Given the description of an element on the screen output the (x, y) to click on. 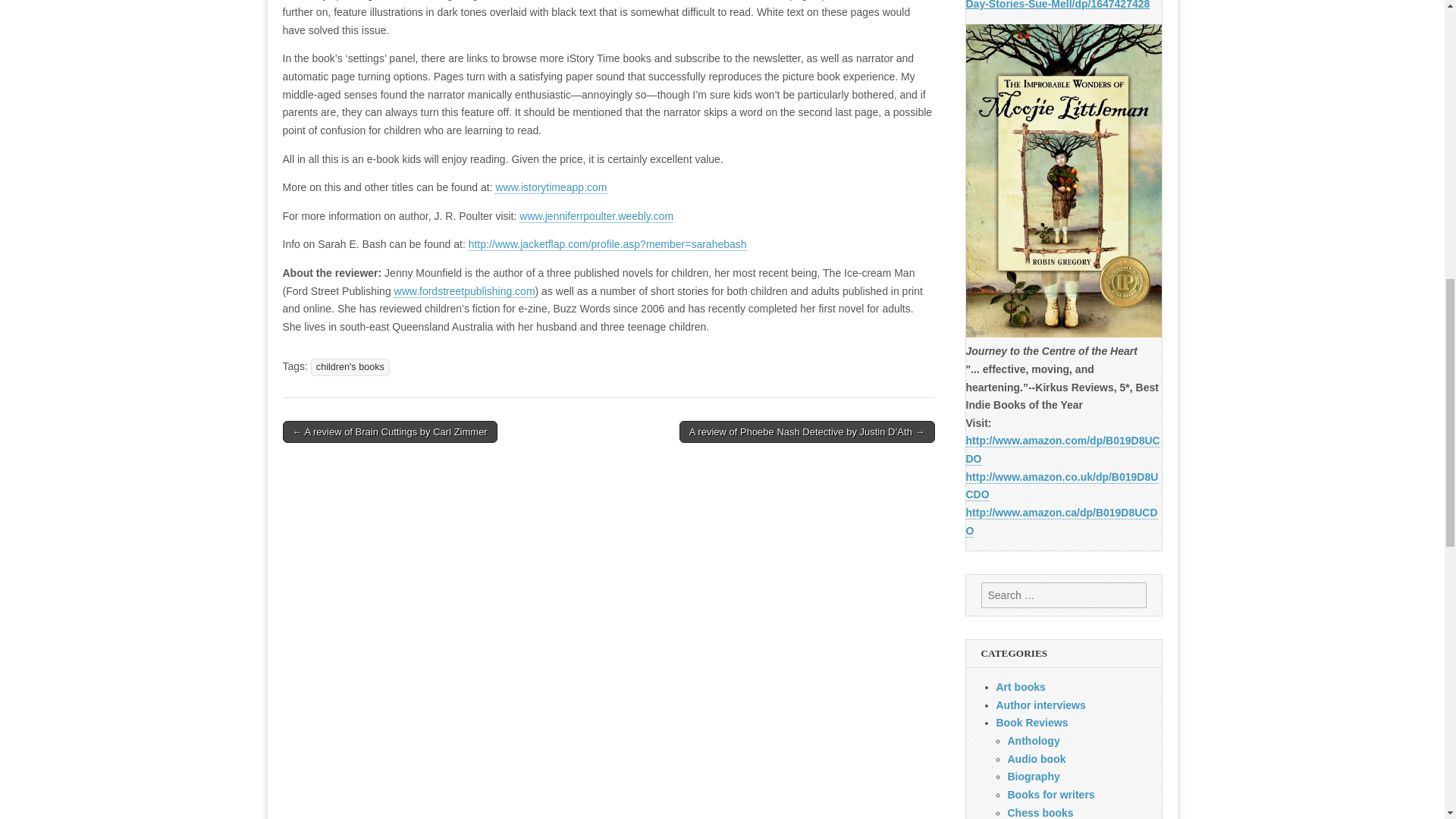
www.fordstreetpublishing.com (464, 291)
Art books (1020, 686)
Audio book (1036, 758)
Book Reviews (1031, 722)
Biography (1033, 776)
Books for writers (1050, 794)
Anthology (1033, 740)
Chess books (1040, 812)
children's books (350, 366)
Author interviews (1040, 705)
